Given the description of an element on the screen output the (x, y) to click on. 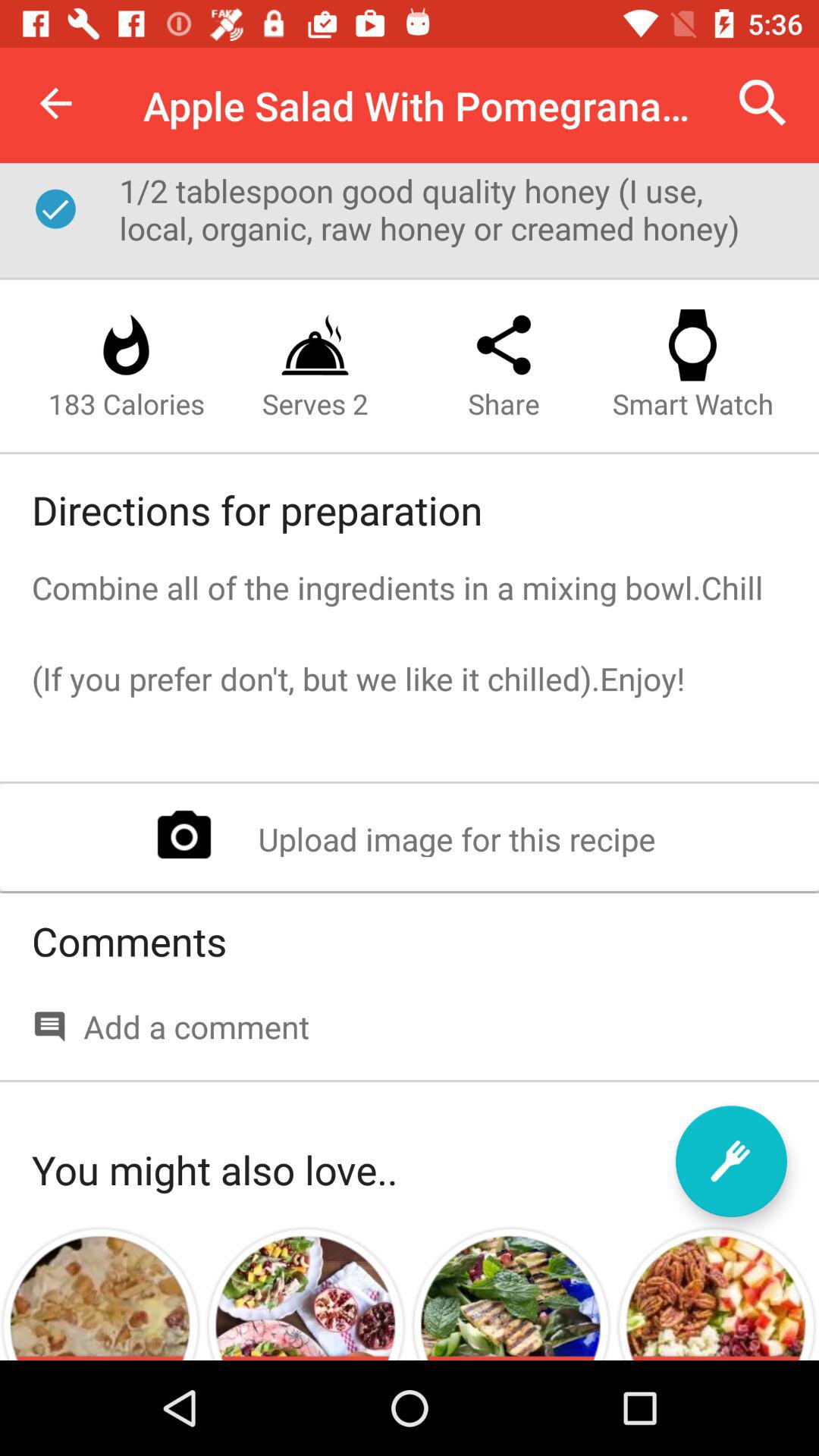
tap item to the left of the apple salad with (55, 103)
